Given the description of an element on the screen output the (x, y) to click on. 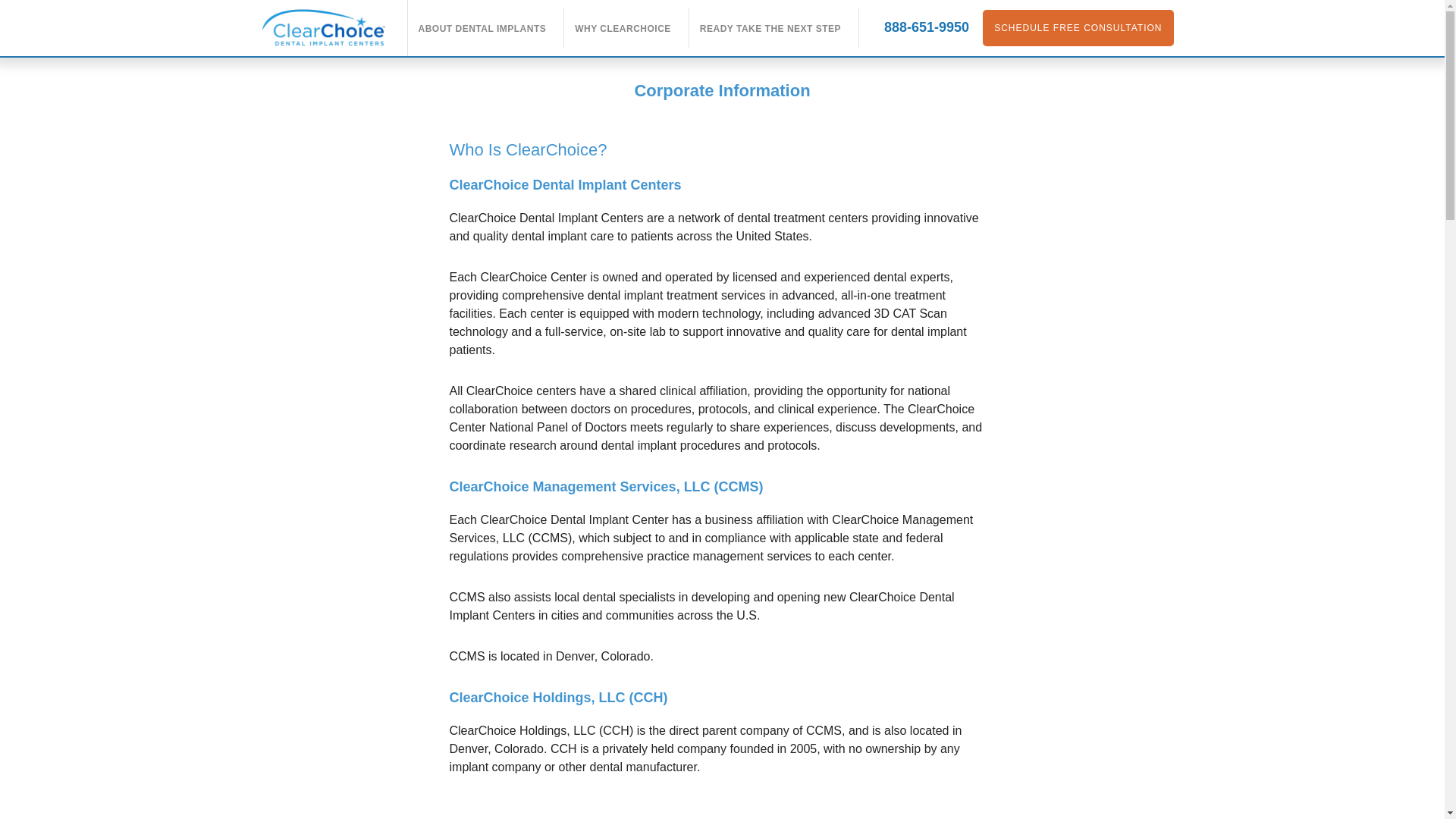
Schedule Online (1077, 27)
ABOUT DENTAL IMPLANTS (483, 28)
WHY CLEARCHOICE (623, 28)
SCHEDULE FREE CONSULTATION (1077, 27)
888-651-9950 (926, 27)
READY TAKE THE NEXT STEP (770, 28)
